Given the description of an element on the screen output the (x, y) to click on. 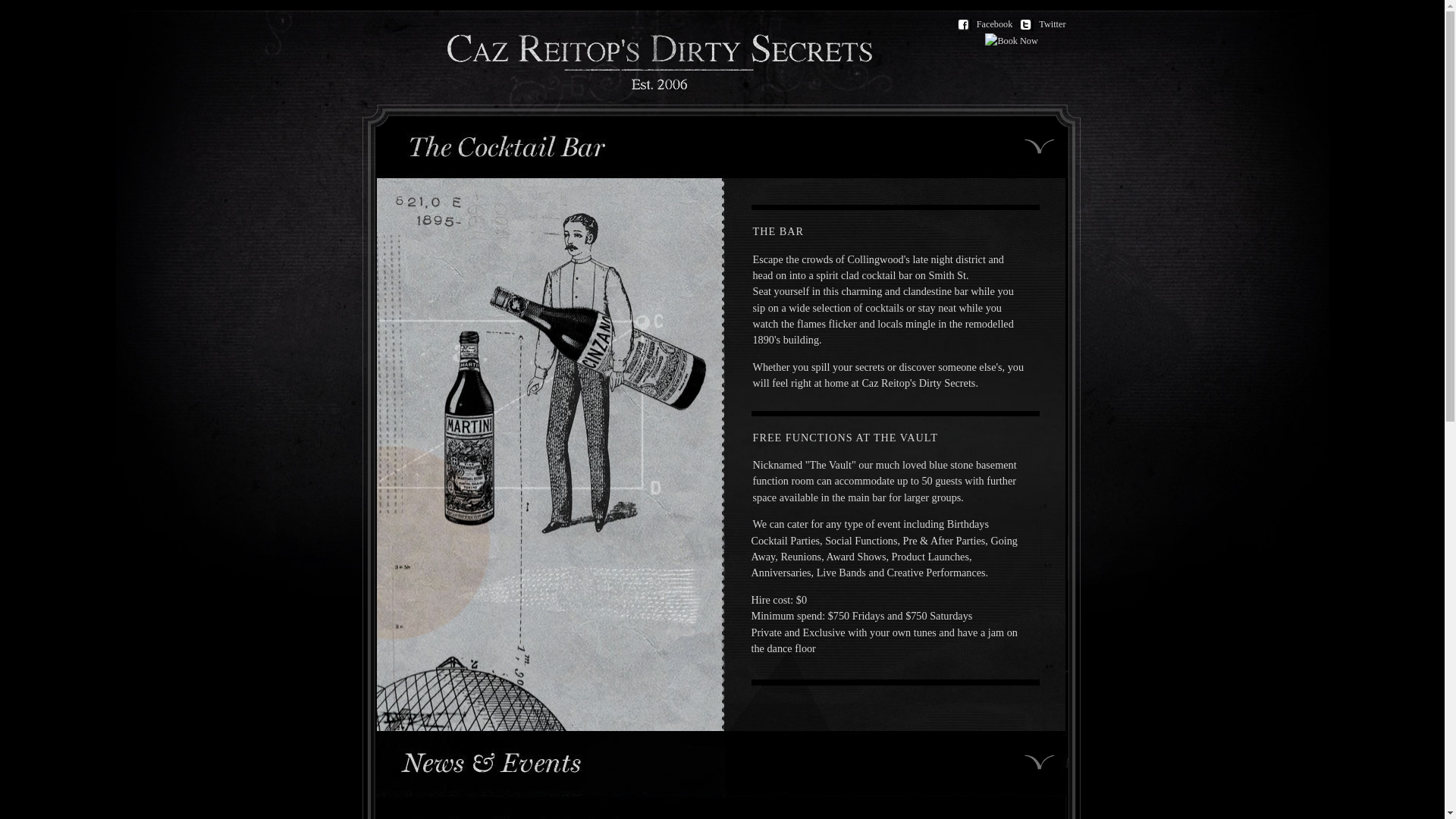
Home Element type: hover (659, 85)
Jump to navigation Element type: text (41, 10)
Twitter Element type: text (1046, 24)
Facebook Element type: text (988, 24)
